Given the description of an element on the screen output the (x, y) to click on. 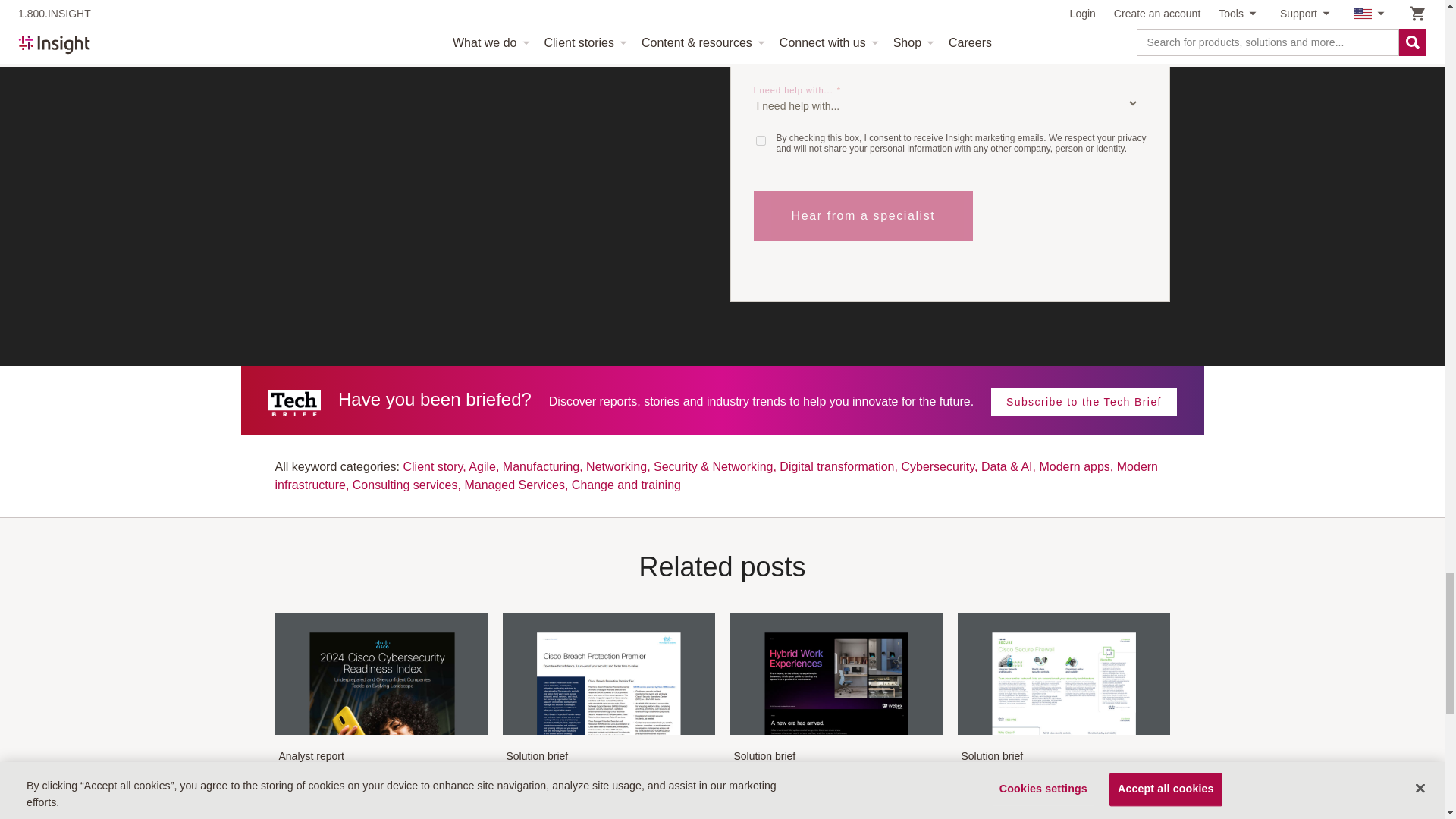
Cisco Breach Protection Premier (608, 733)
Cisco Cybersecurity Readiness Index  (380, 733)
Your response is limited to 40 characters (846, 56)
yes (760, 140)
Cisco Secure Firewall (1062, 733)
I need help with... (946, 103)
Cisco Hybrid Work Experience (835, 733)
